Given the description of an element on the screen output the (x, y) to click on. 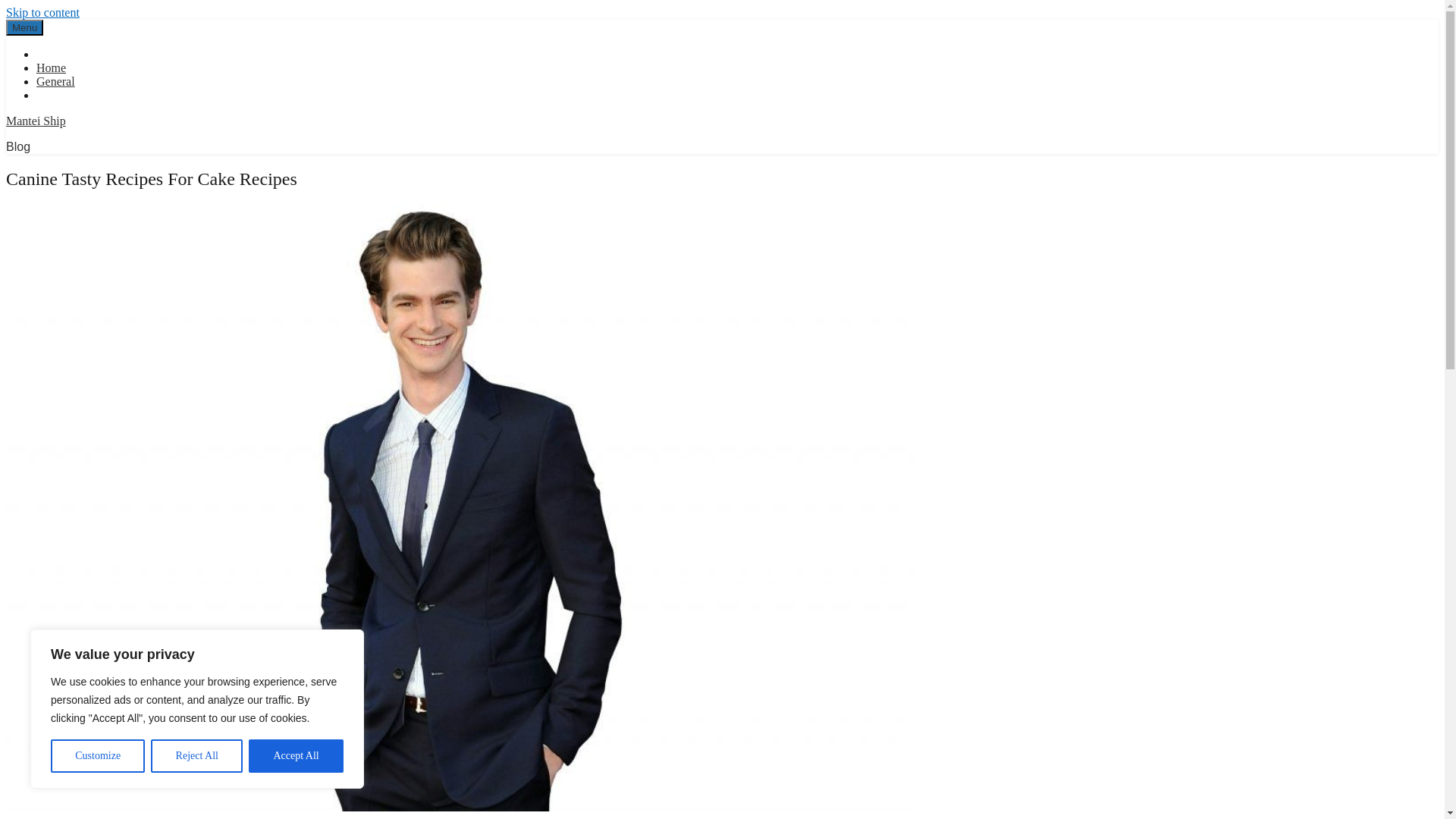
Accept All (295, 756)
Reject All (197, 756)
Home (50, 67)
Skip to content (42, 11)
Mantei Ship (35, 120)
Menu (24, 27)
Customize (97, 756)
General (55, 81)
